Given the description of an element on the screen output the (x, y) to click on. 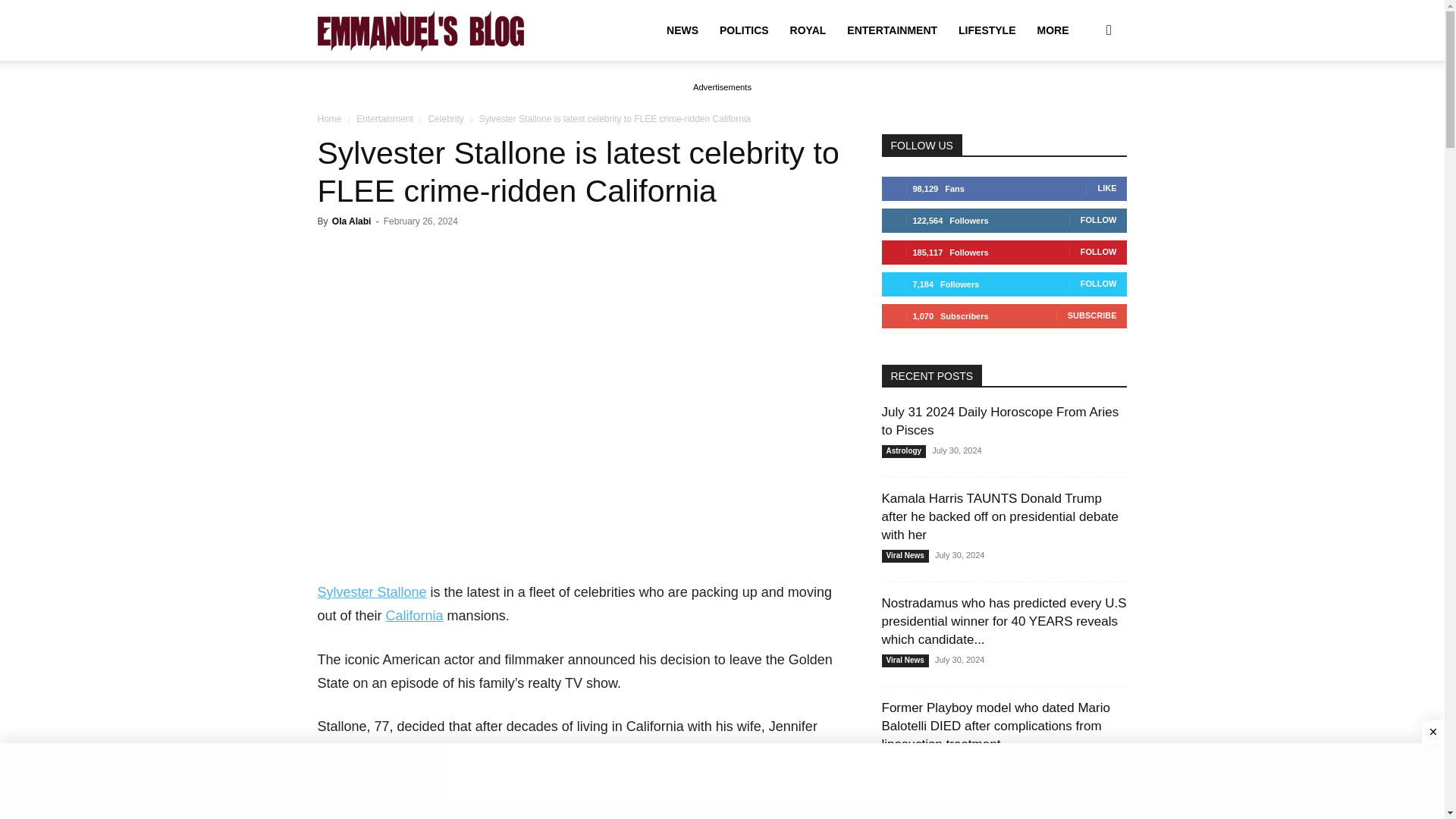
View all posts in Celebrity (445, 118)
View all posts in Entertainment (384, 118)
